Given the description of an element on the screen output the (x, y) to click on. 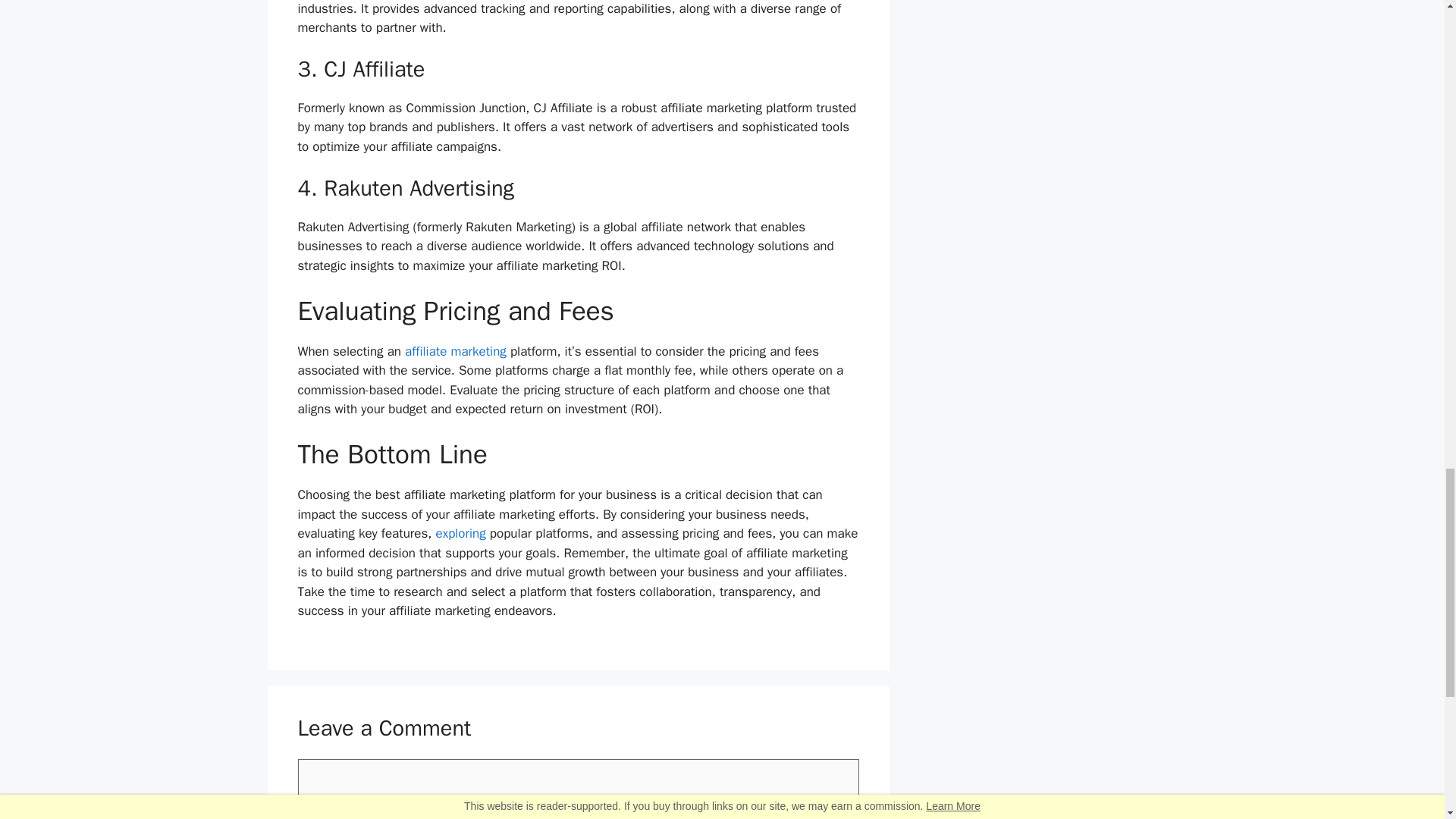
exploring (459, 533)
affiliate marketing (455, 351)
